Given the description of an element on the screen output the (x, y) to click on. 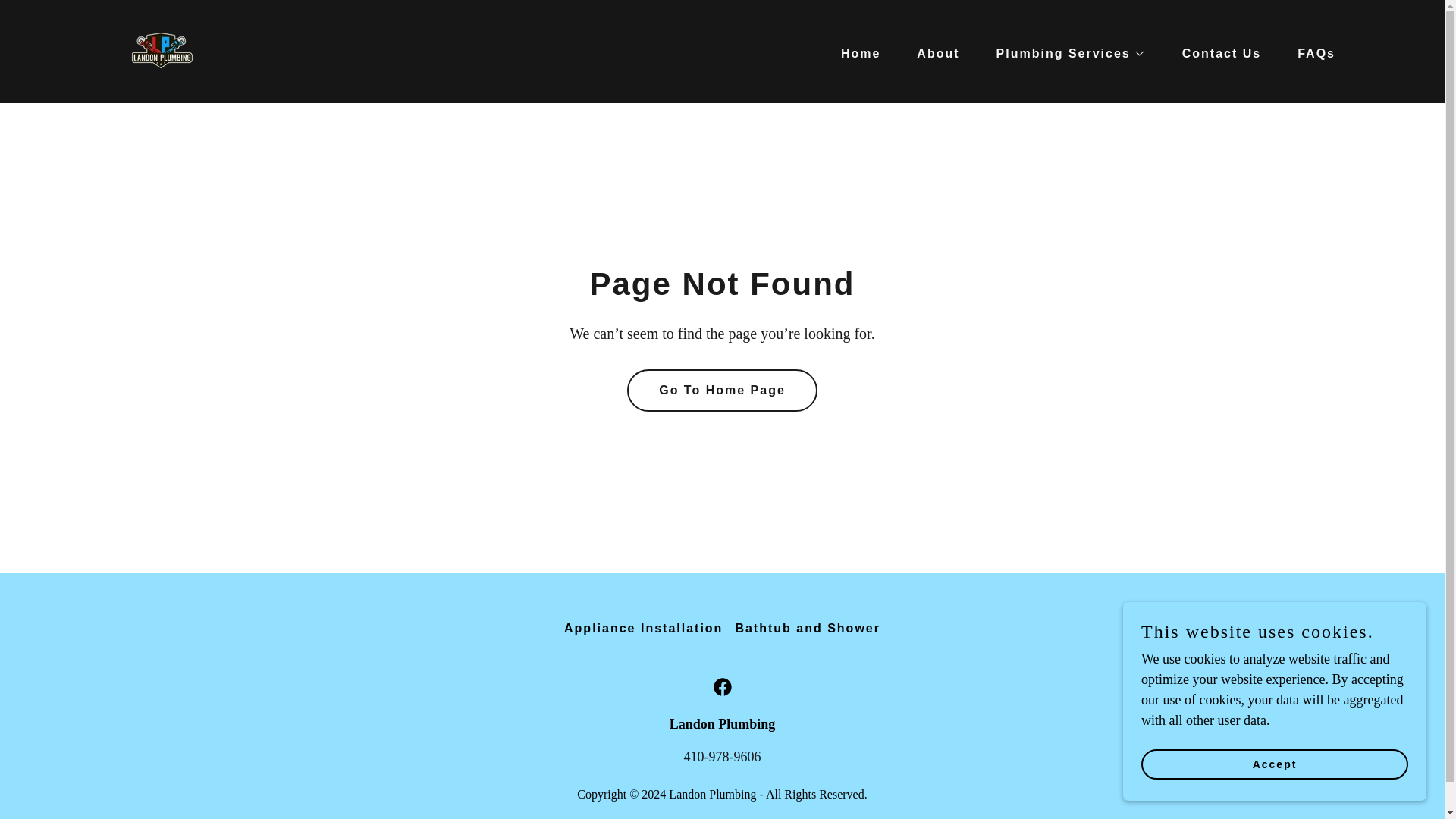
Home (854, 52)
About (931, 52)
Plumbing Services (1064, 53)
Landon Plumbing (162, 49)
FAQs (1310, 52)
Contact Us (1215, 52)
